Given the description of an element on the screen output the (x, y) to click on. 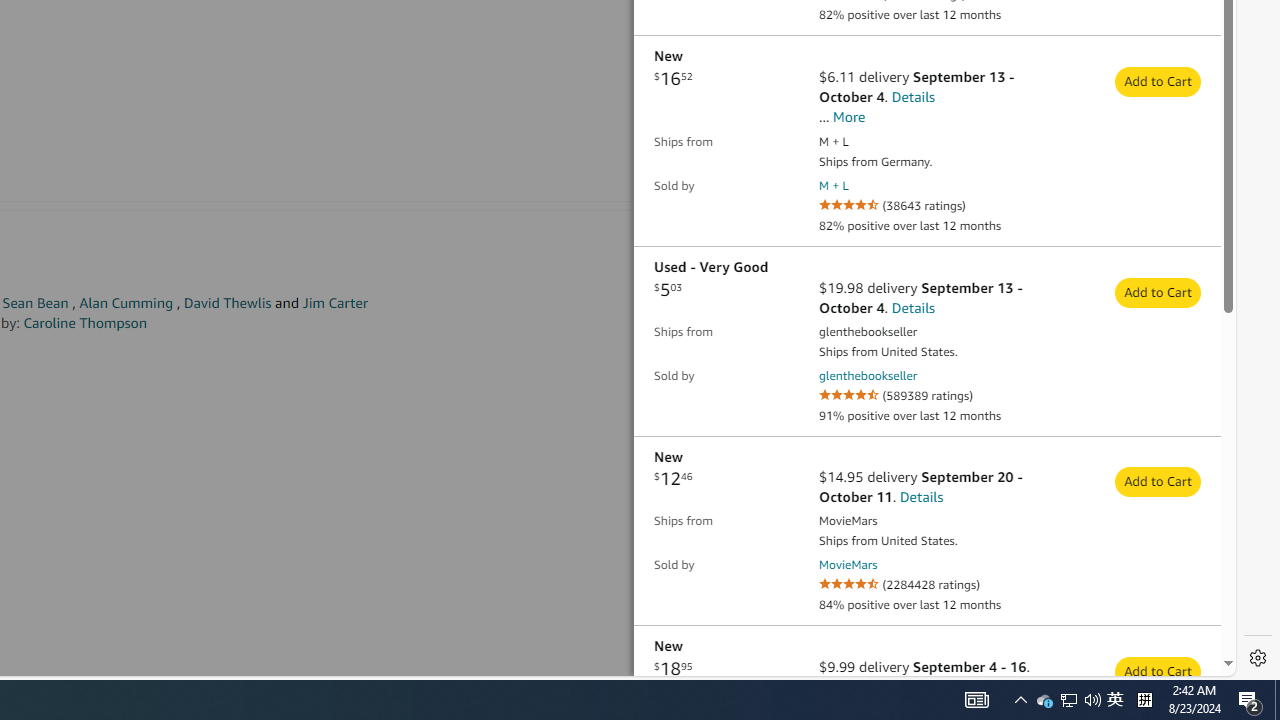
Add to Cart from seller M + L and price $16.52  (1158, 80)
Alan Cumming (126, 303)
Caroline Thompson (85, 322)
Opens a new page (848, 565)
More. about shipping (849, 116)
Settings (1258, 658)
Add to Cart from seller newtownvideos and price $18.95  (1158, 671)
Jim Carter (335, 303)
Add to Cart from seller MovieMars and price $12.46  (1158, 482)
David Thewlis (227, 303)
Details (921, 497)
Sean Bean (35, 303)
Add to Cart from seller glenthebookseller and price $5.03  (1158, 291)
